Given the description of an element on the screen output the (x, y) to click on. 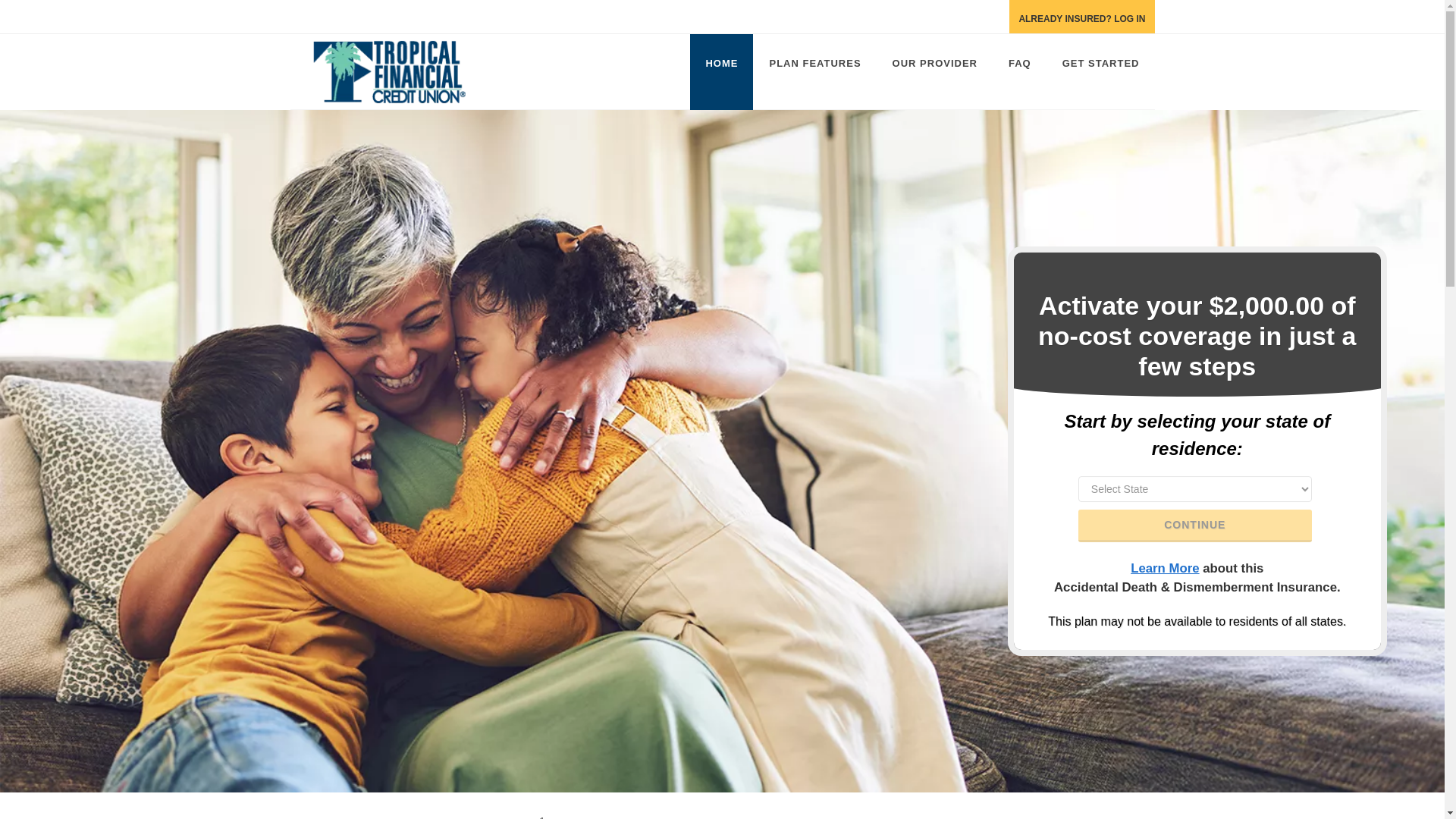
Continue (1194, 525)
Login Button (1081, 16)
OUR PROVIDER (934, 71)
ALREADY INSURED? LOG IN (1081, 16)
Continue (1194, 525)
Learn More (1164, 568)
Current MicroSite (402, 71)
PLAN FEATURES (815, 71)
GET STARTED (1100, 71)
Continue (1194, 525)
